Given the description of an element on the screen output the (x, y) to click on. 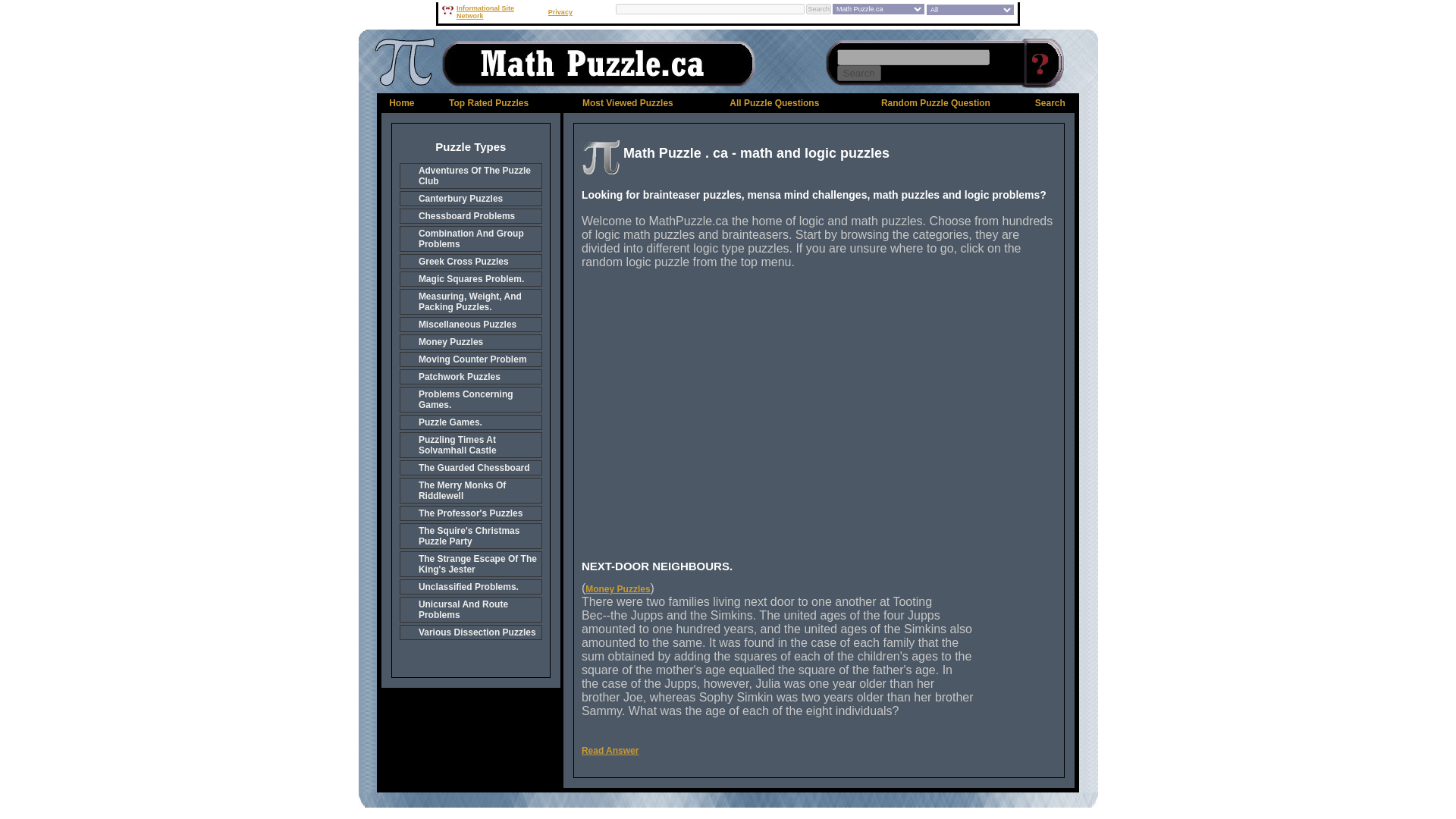
Random Puzzle Question (935, 102)
Privacy (560, 11)
The Strange Escape Of The King's Jester (469, 564)
Various Dissection Puzzles (469, 631)
Magic Squares Problem. (469, 278)
Search (1050, 102)
Most Viewed Puzzles (627, 102)
Search (818, 9)
Search (858, 73)
Puzzle Games. (469, 421)
Money Puzzles (469, 341)
The Professor's Puzzles (469, 513)
Miscellaneous Puzzles (469, 324)
Moving Counter Problem (469, 359)
Read Answer (609, 750)
